Given the description of an element on the screen output the (x, y) to click on. 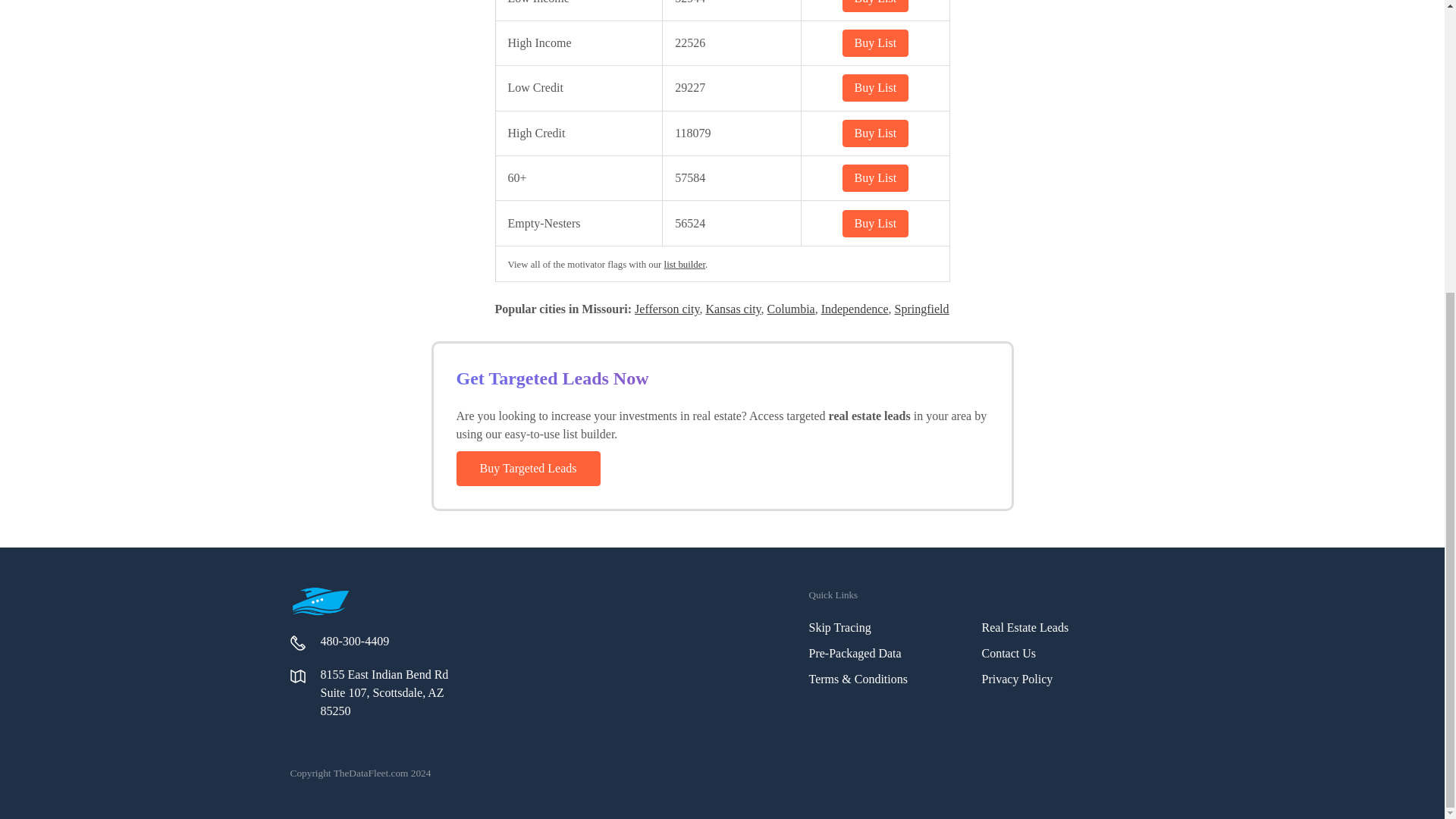
Springfield (922, 308)
Columbia (791, 308)
Buy List (875, 222)
Buy Targeted Leads (528, 468)
Buy List (875, 42)
list builder (683, 264)
Independence (854, 308)
Kansas city (732, 308)
Buy List (875, 133)
Real Estate Leads (1024, 626)
